Given the description of an element on the screen output the (x, y) to click on. 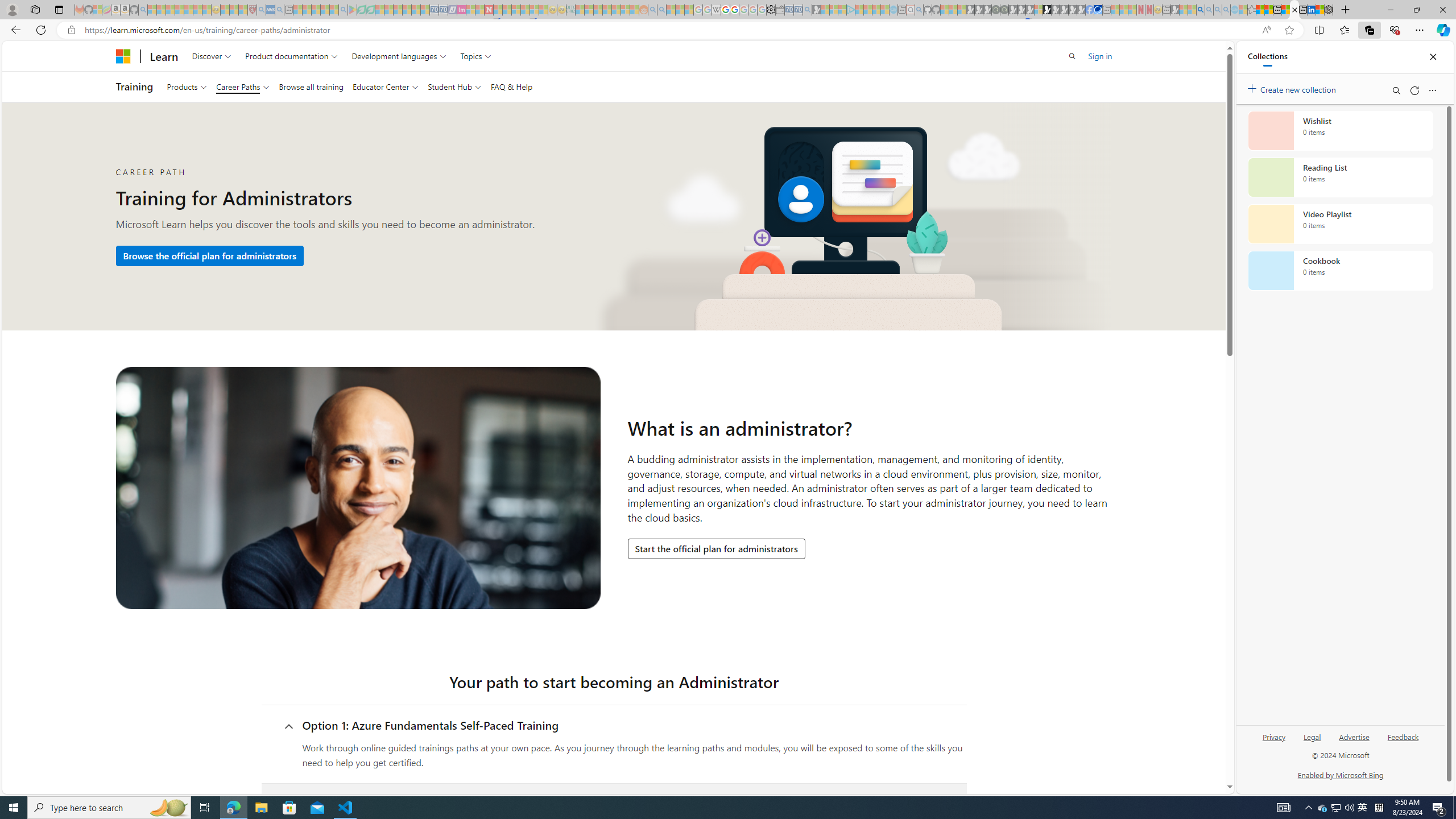
Create new collection (1293, 87)
